Given the description of an element on the screen output the (x, y) to click on. 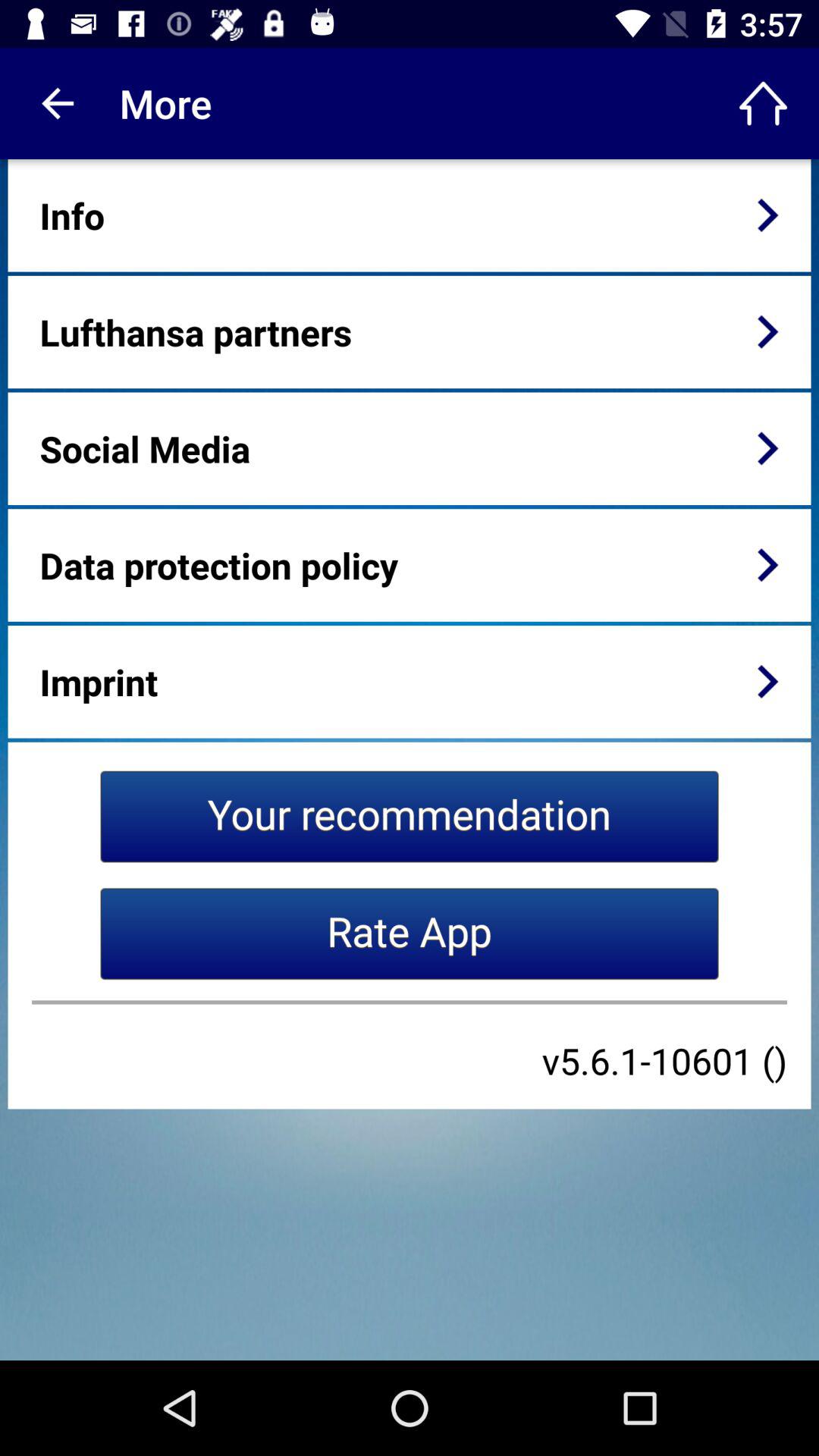
tap the icon below your recommendation item (409, 933)
